Given the description of an element on the screen output the (x, y) to click on. 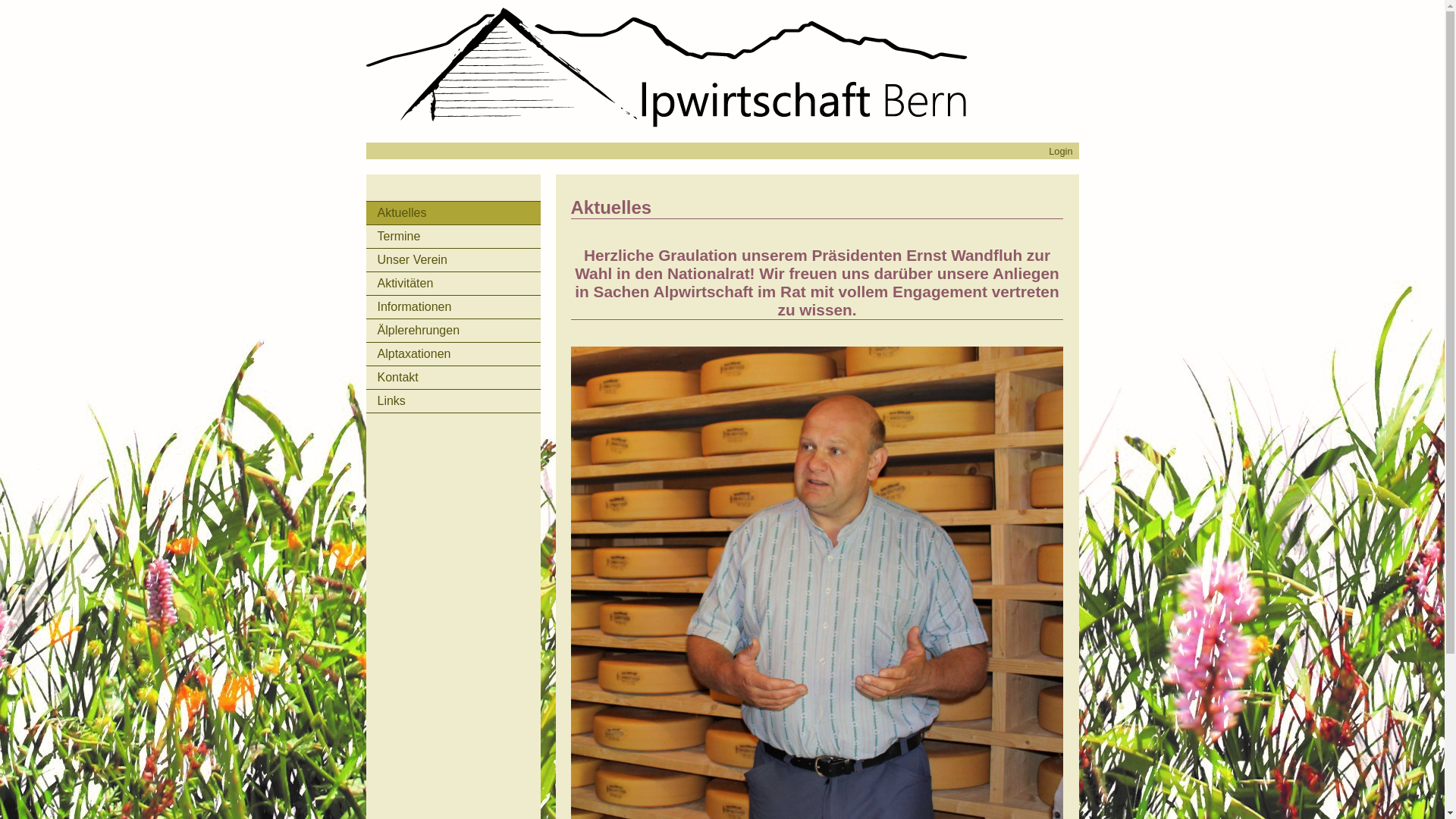
Alptaxationen Element type: text (452, 353)
Links Element type: text (452, 400)
Unser Verein Element type: text (452, 259)
Informationen Element type: text (452, 306)
Aktuelles Element type: text (452, 212)
Kontakt Element type: text (452, 377)
Termine Element type: text (452, 236)
Login Element type: text (1060, 151)
